Given the description of an element on the screen output the (x, y) to click on. 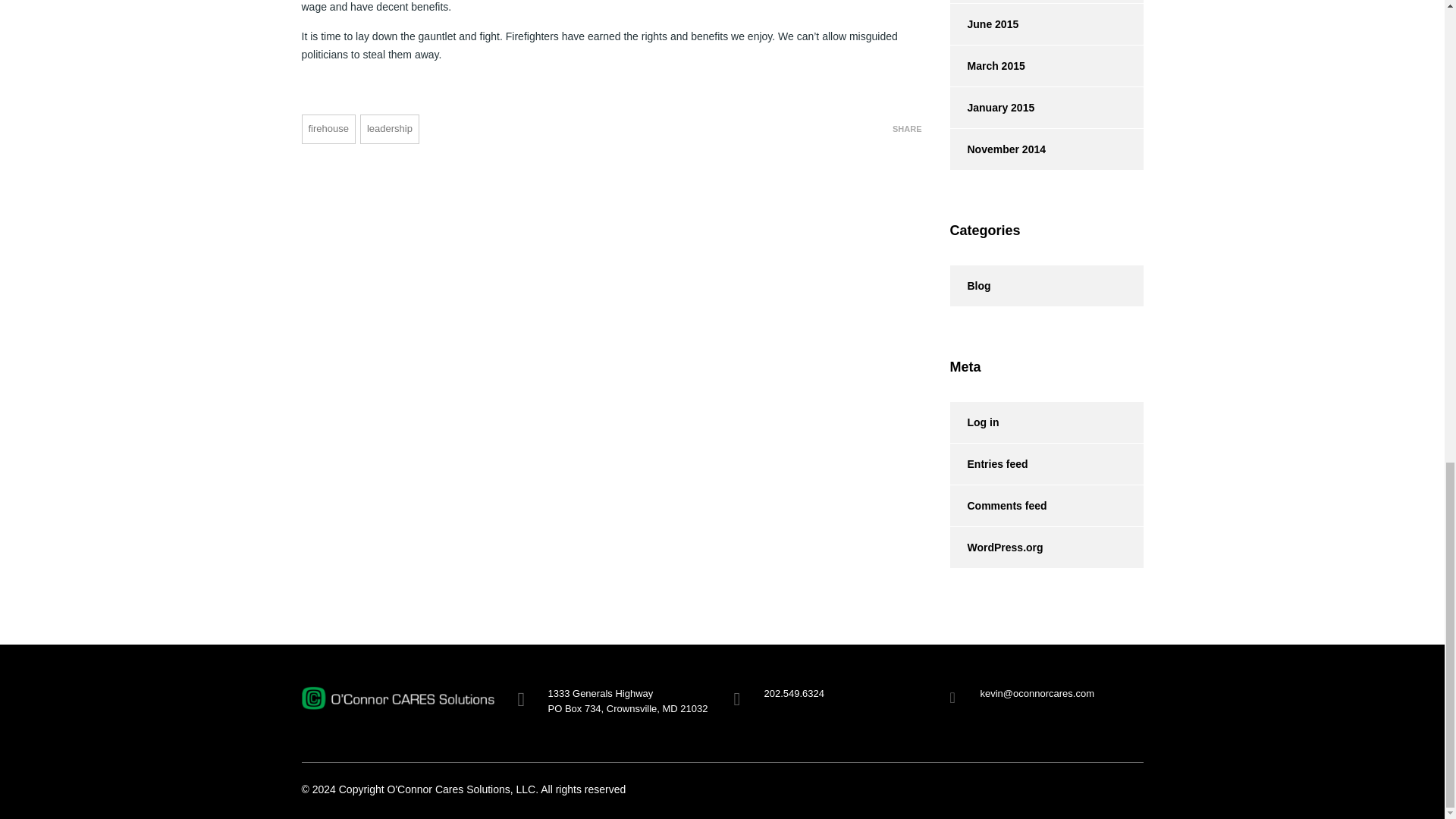
leadership (389, 129)
firehouse (328, 129)
August 2015 (989, 1)
June 2015 (983, 24)
